Given the description of an element on the screen output the (x, y) to click on. 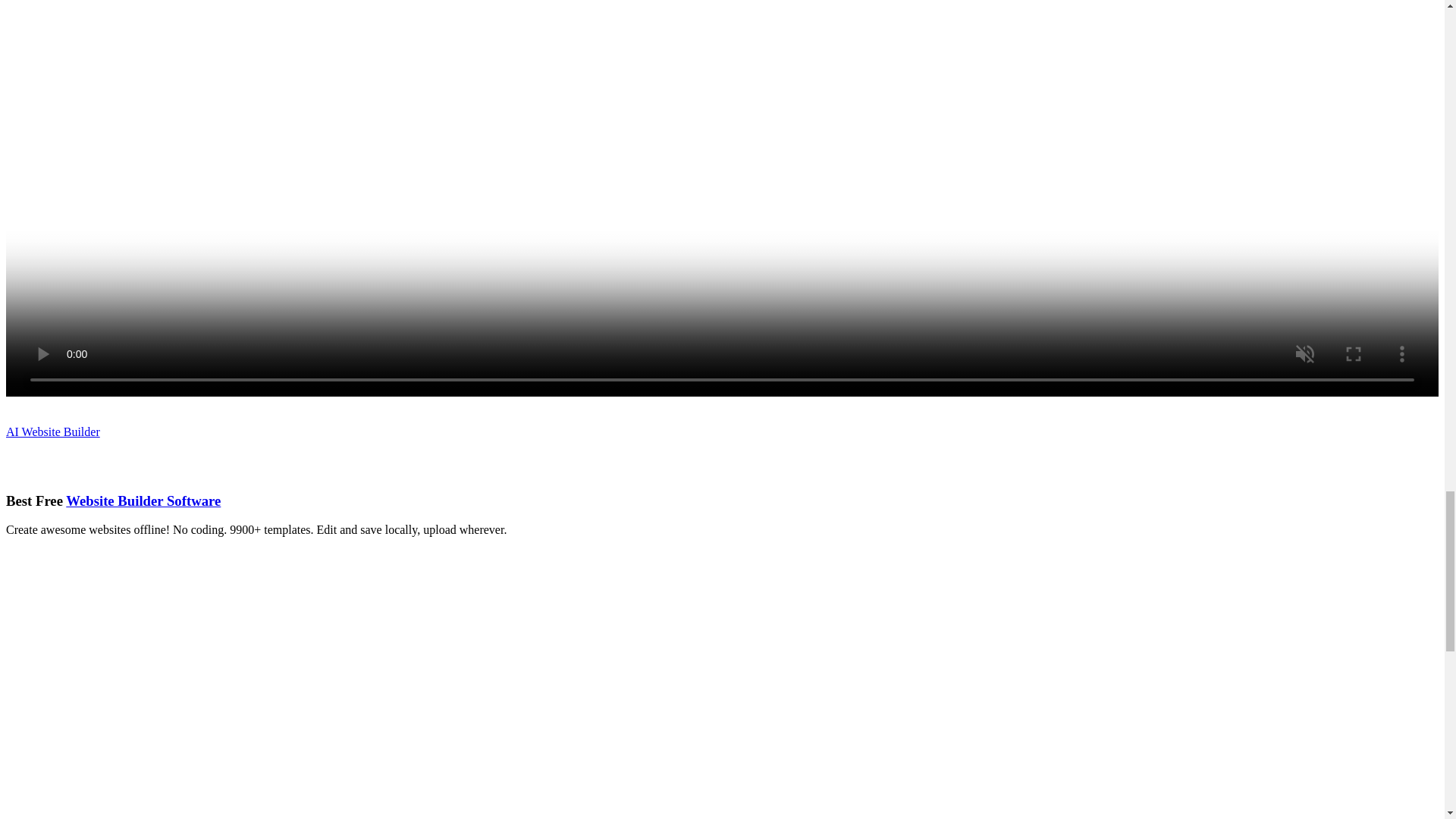
AI Website Builder (52, 431)
Website Builder Software (143, 500)
